Given the description of an element on the screen output the (x, y) to click on. 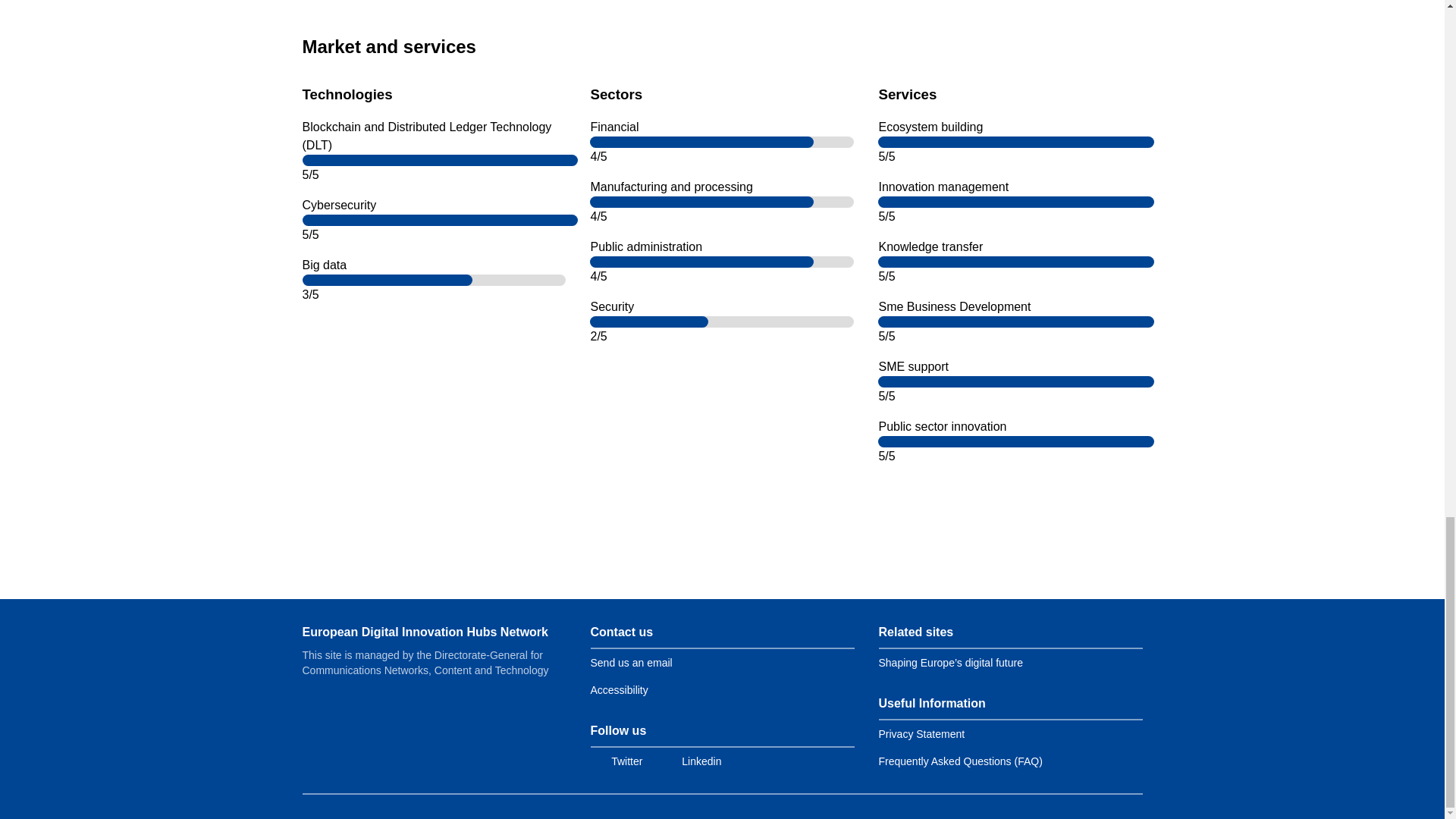
Accessibility (618, 689)
Privacy Statement (920, 734)
Twitter (615, 761)
Linkedin (690, 761)
Send us an email (630, 662)
